Given the description of an element on the screen output the (x, y) to click on. 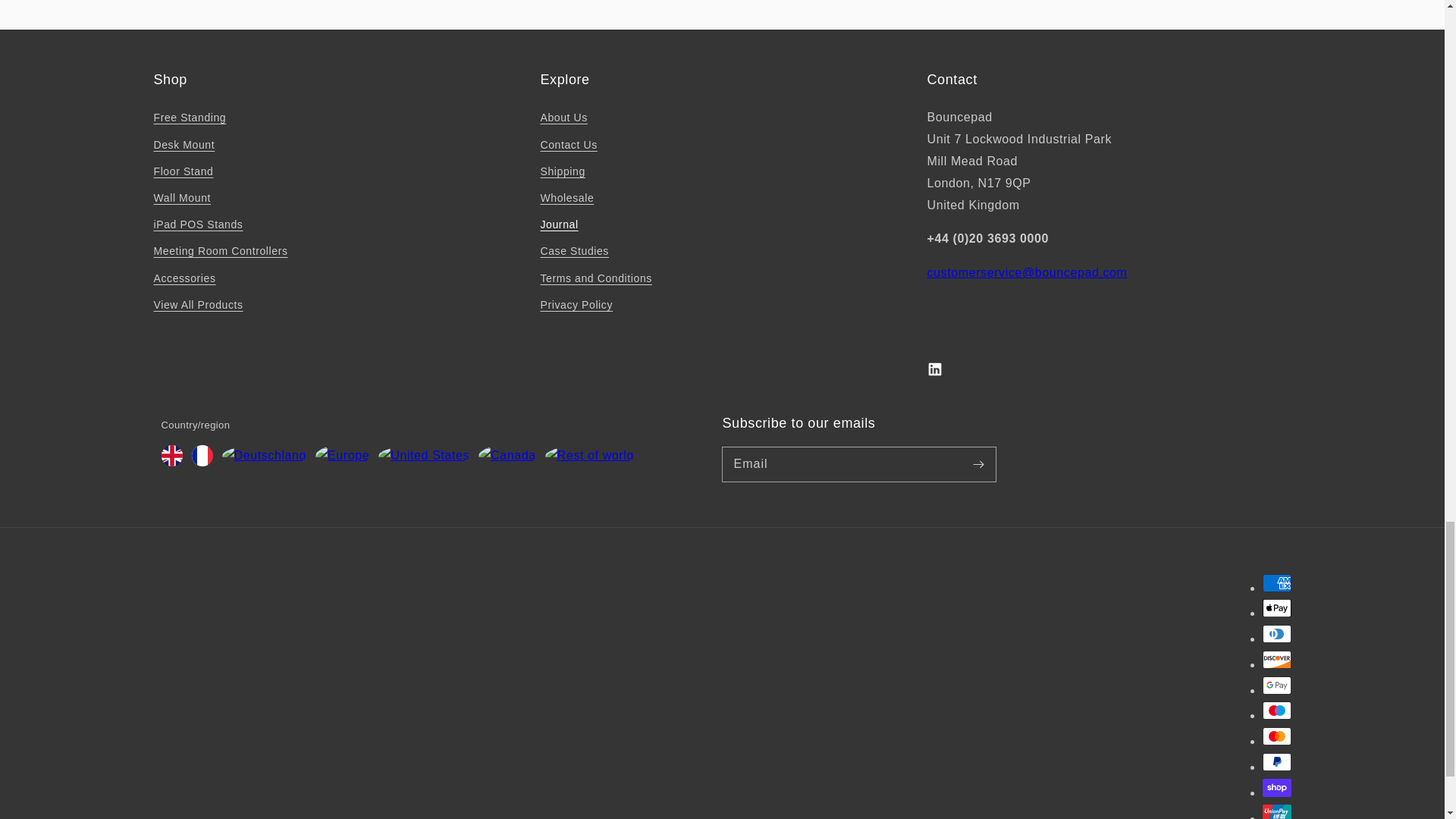
Diners Club (1276, 633)
PayPal (1276, 761)
 Europe (342, 454)
Google Pay (1276, 685)
 Rest of world (588, 454)
Apple Pay (1276, 607)
 United States (423, 454)
American Express (1276, 582)
 Deutschland (263, 454)
Union Pay (1276, 811)
